Given the description of an element on the screen output the (x, y) to click on. 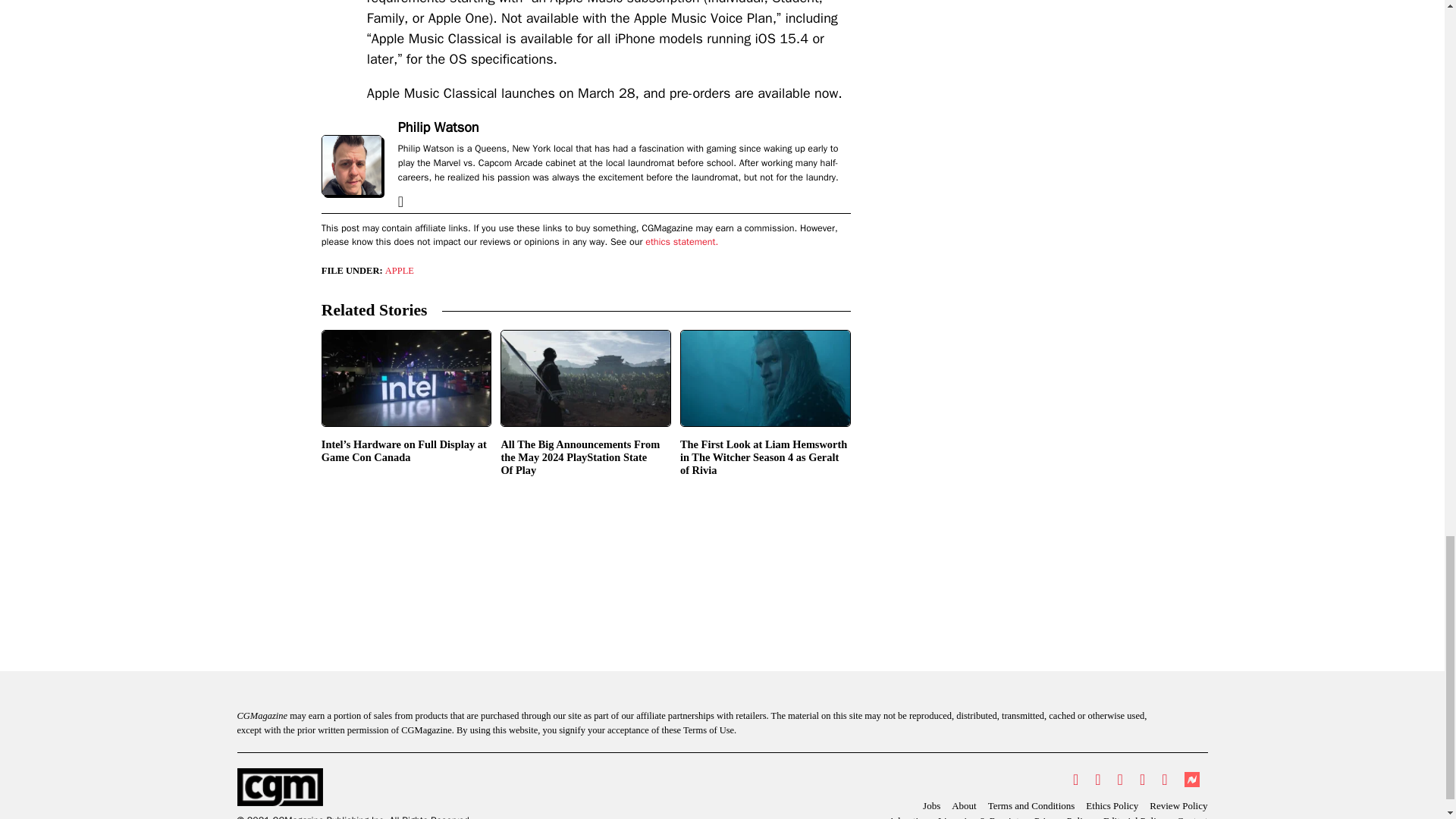
Facebook Page (1097, 779)
Twitter Profile (1075, 779)
NewsBreak (1190, 779)
YouTube Page (1142, 779)
Flipboard Page (1163, 779)
CGMagazine (353, 786)
Philip Watson (438, 127)
Instagram Profile (1120, 779)
